Given the description of an element on the screen output the (x, y) to click on. 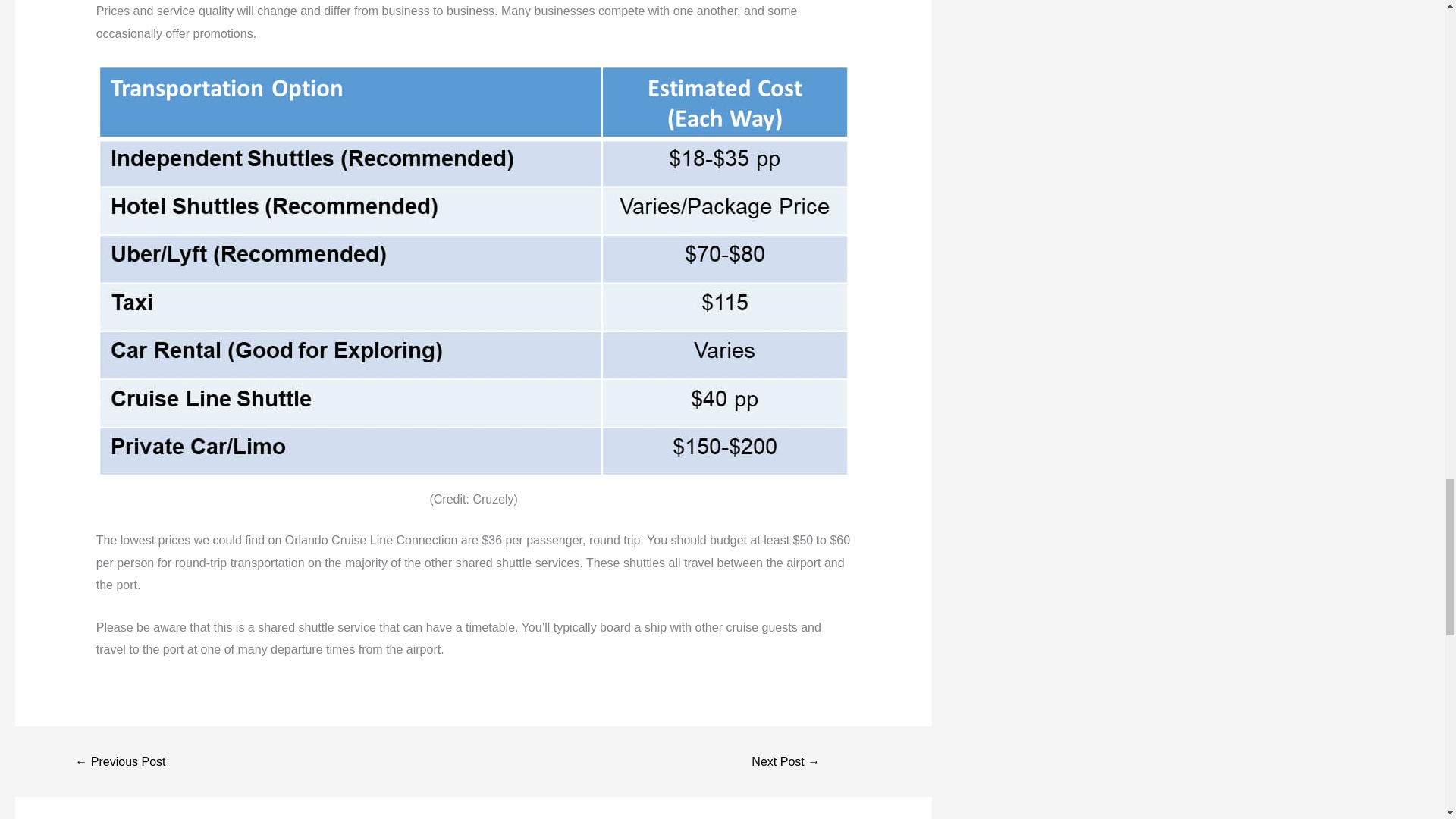
Differences between Cruise Suites and Balcony Cabins (119, 761)
Alaskan Cruises: Do You Need a Passport? (785, 761)
